Given the description of an element on the screen output the (x, y) to click on. 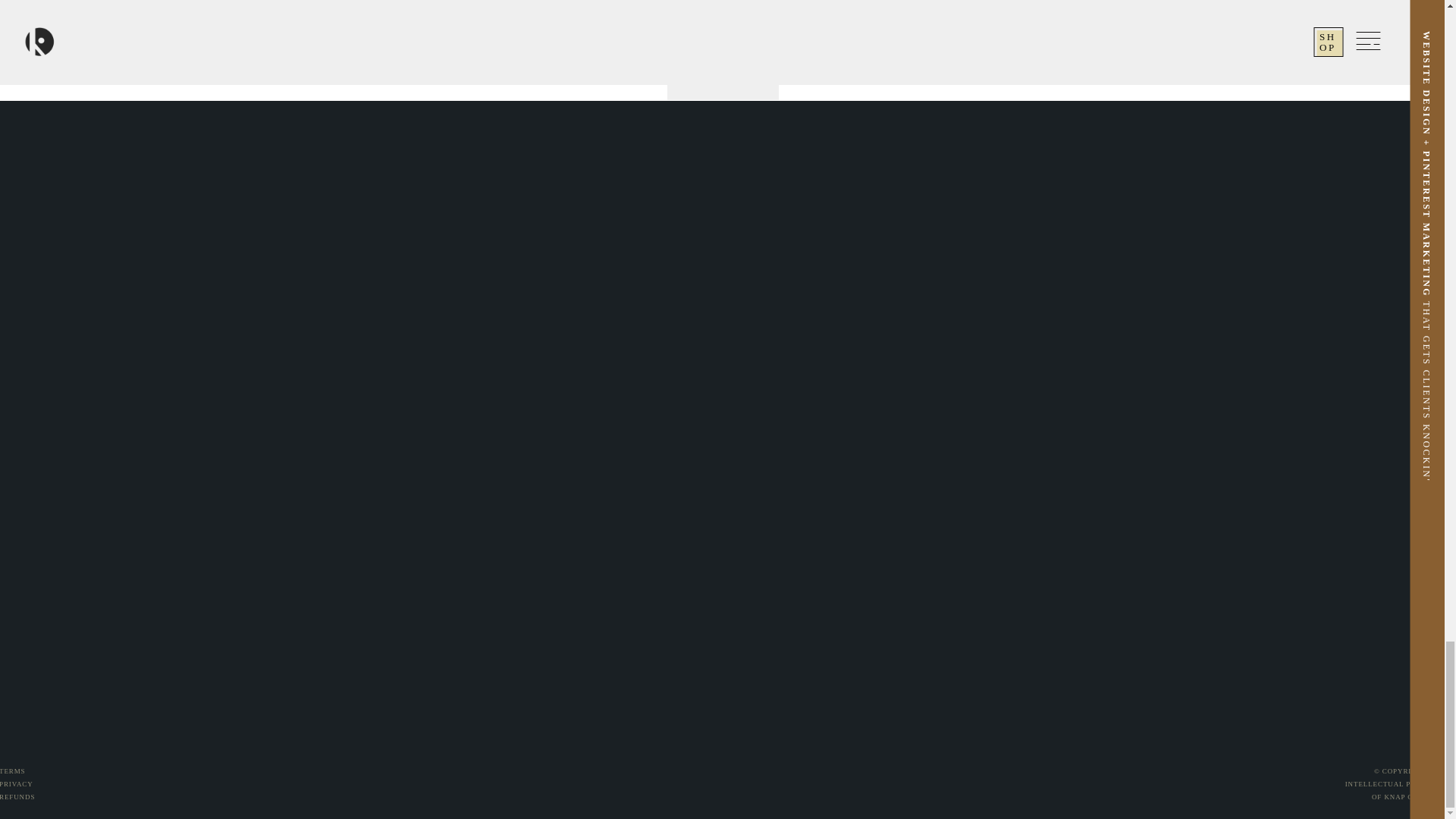
LET'S WORK TOGETHER (722, 62)
